Given the description of an element on the screen output the (x, y) to click on. 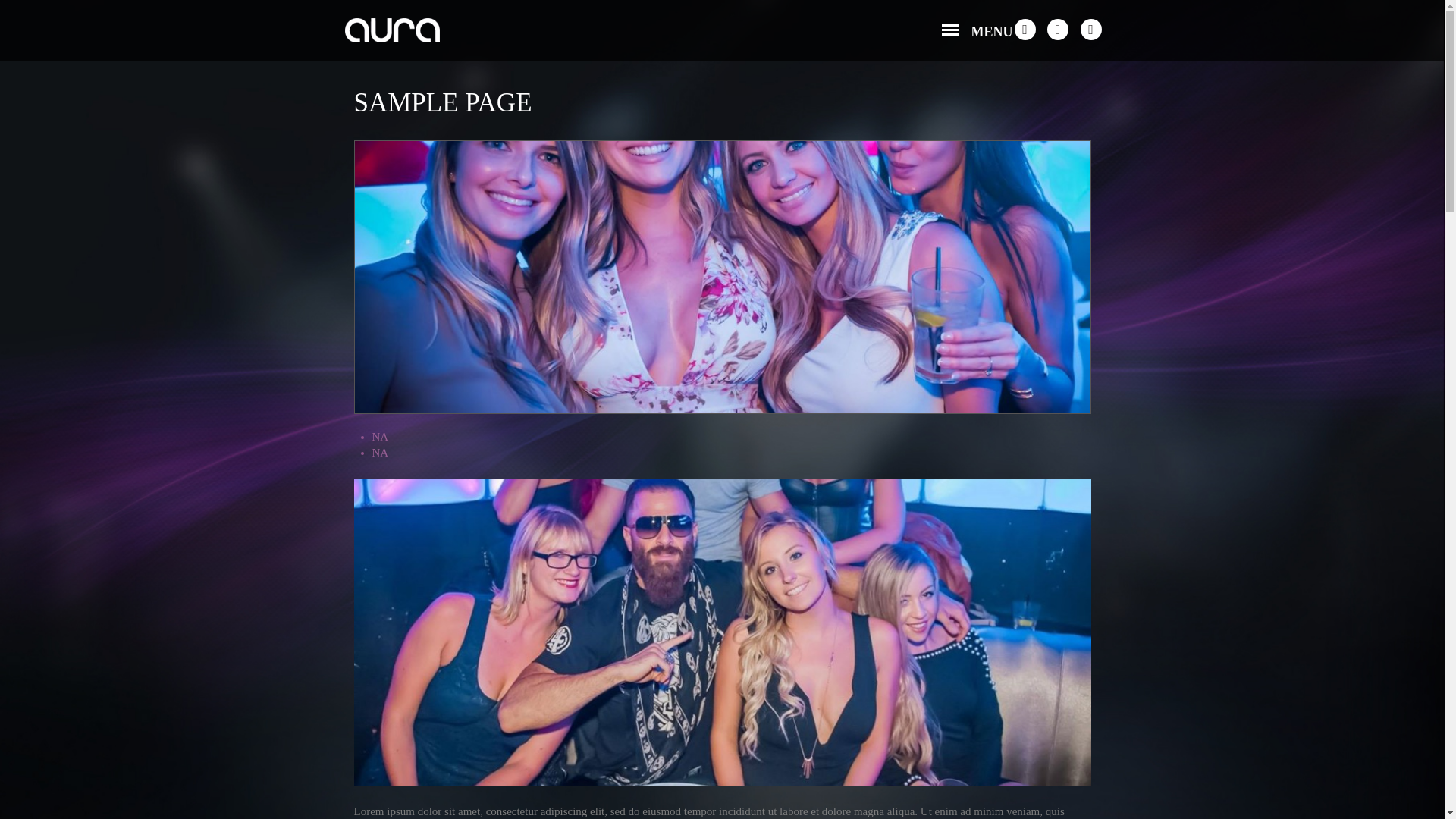
NA Element type: text (379, 451)
MENU Element type: text (973, 30)
NA Element type: text (379, 436)
